Given the description of an element on the screen output the (x, y) to click on. 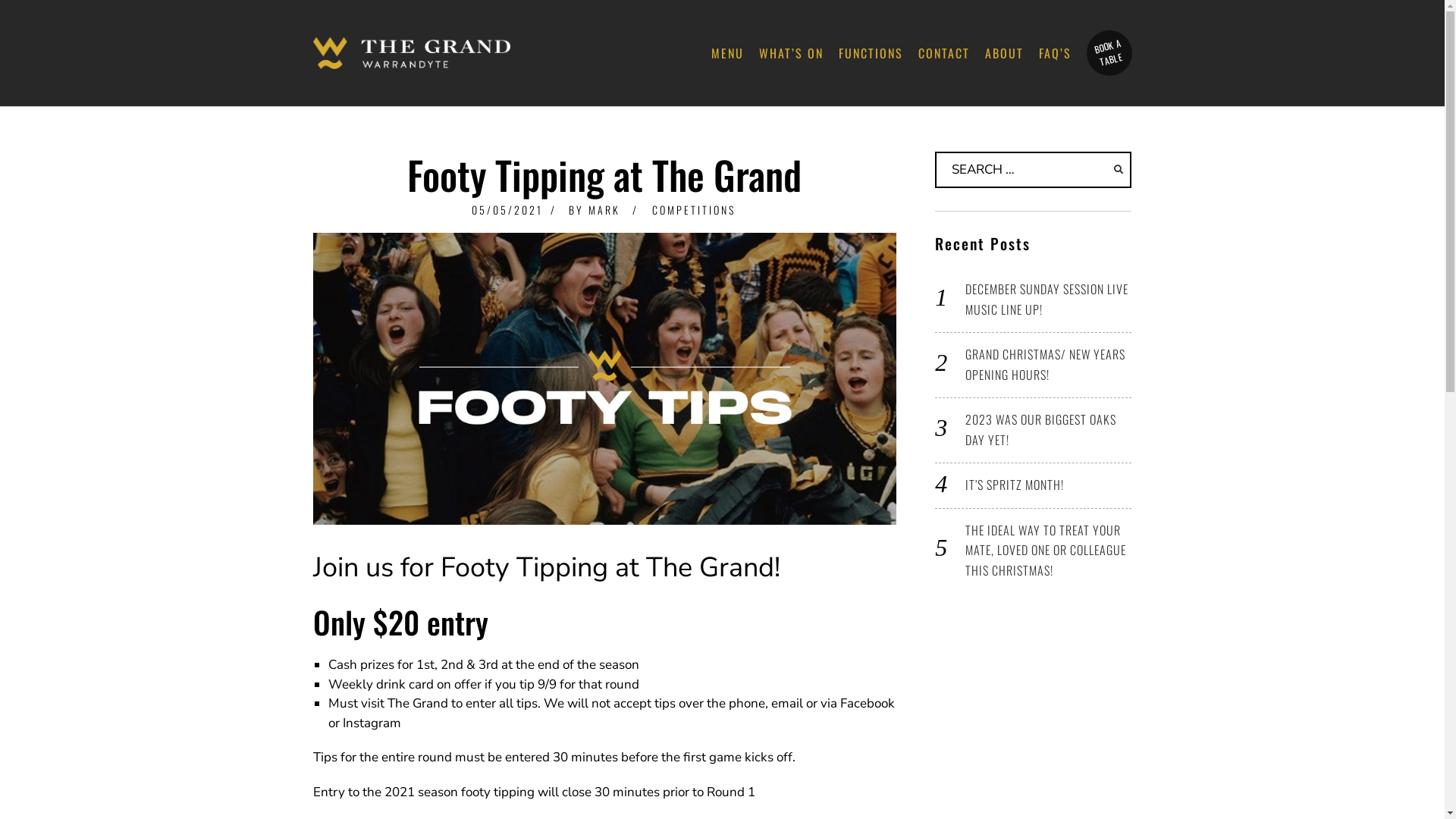
DECEMBER SUNDAY SESSION LIVE MUSIC LINE UP! Element type: text (1046, 298)
2023 WAS OUR BIGGEST OAKS DAY YET! Element type: text (1040, 429)
MENU Element type: text (727, 52)
Go Element type: hover (1118, 169)
MARK Element type: text (604, 209)
BOOK A
TABLE Element type: text (1103, 47)
COMPETITIONS Element type: text (693, 209)
FUNCTIONS Element type: text (870, 52)
ABOUT Element type: text (1003, 52)
CONTACT Element type: text (943, 52)
GRAND CHRISTMAS/ NEW YEARS OPENING HOURS! Element type: text (1045, 364)
05/05/2021
04/06/2021 Element type: text (506, 209)
